Given the description of an element on the screen output the (x, y) to click on. 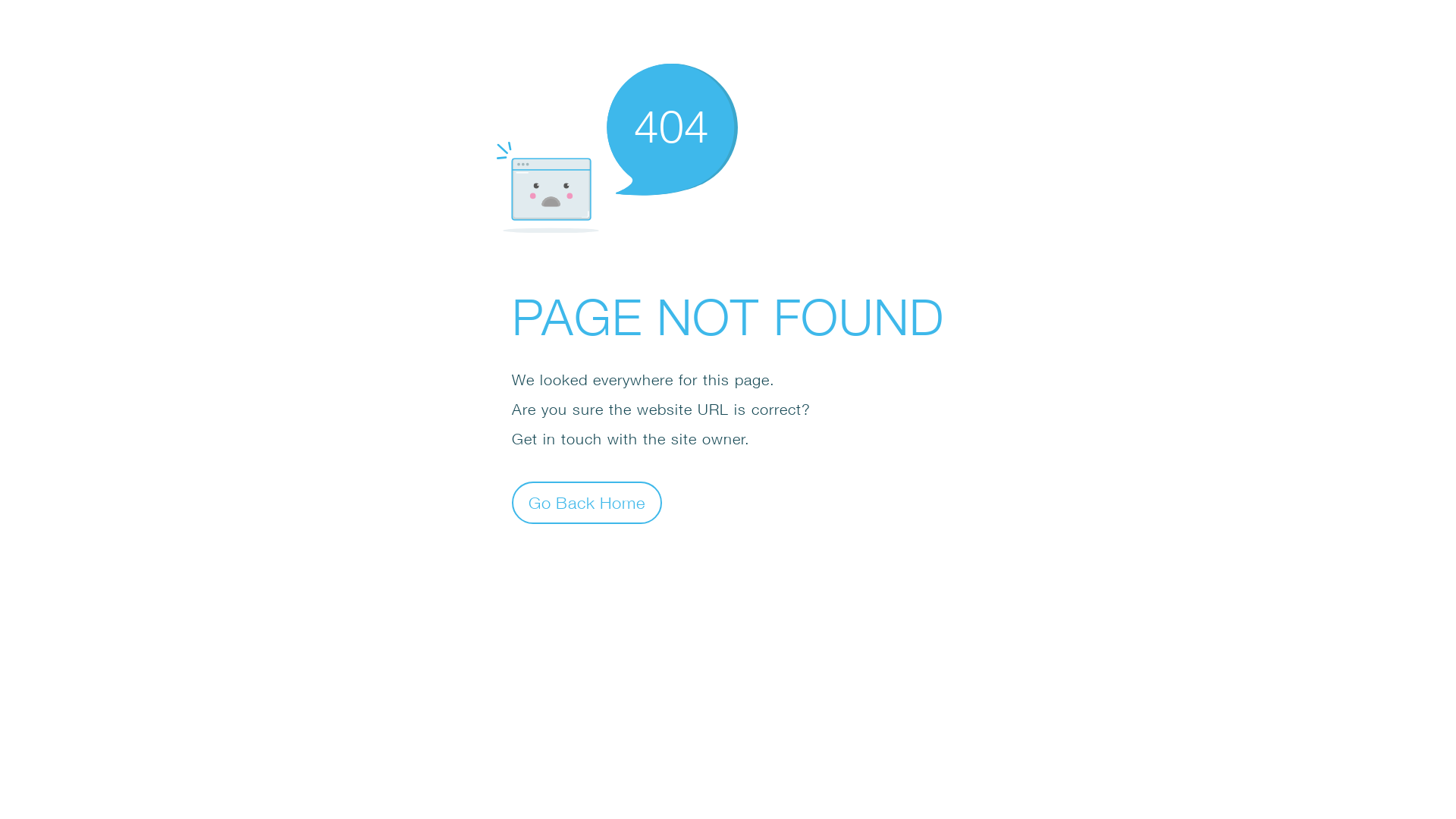
Go Back Home Element type: text (586, 502)
